Given the description of an element on the screen output the (x, y) to click on. 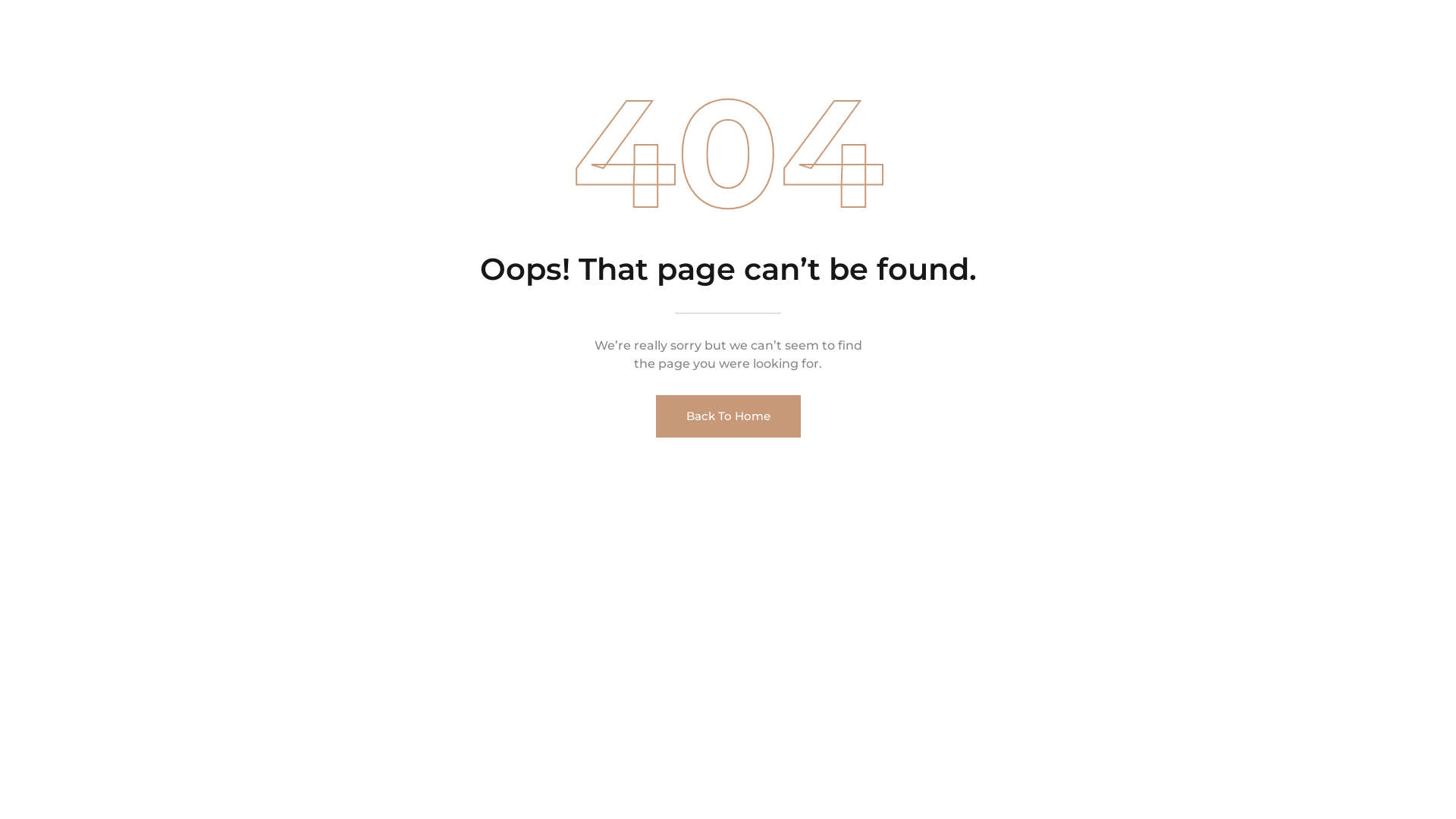
Back To Home Element type: text (727, 416)
